Given the description of an element on the screen output the (x, y) to click on. 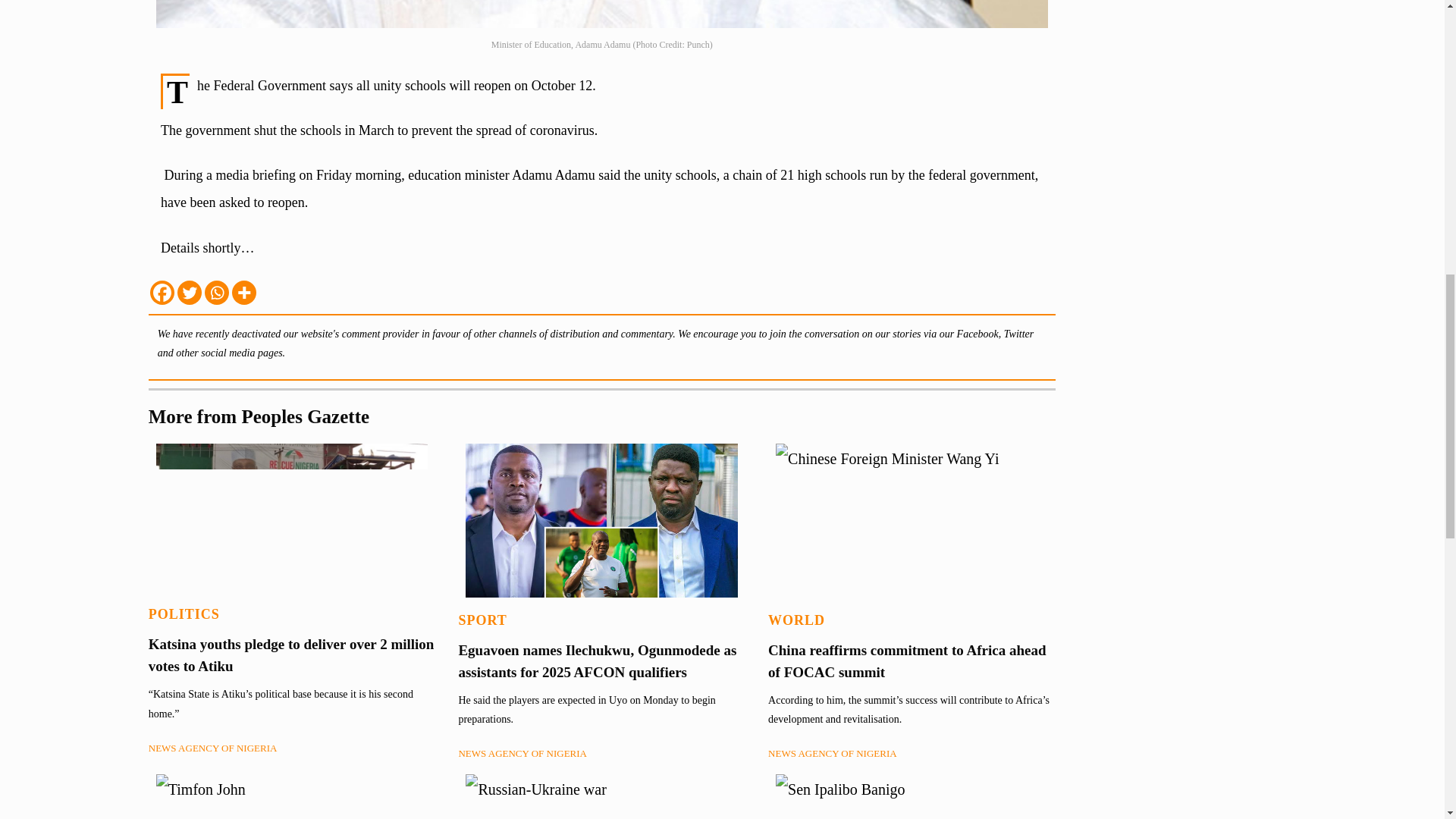
China reaffirms commitment to Africa ahead of FOCAC summit (906, 661)
Facebook (161, 292)
More (243, 292)
 Politics (183, 613)
Posts by News Agency of Nigeria (832, 753)
POLITICS (183, 613)
Twitter (189, 292)
 Sport (482, 620)
SPORT (482, 620)
